Given the description of an element on the screen output the (x, y) to click on. 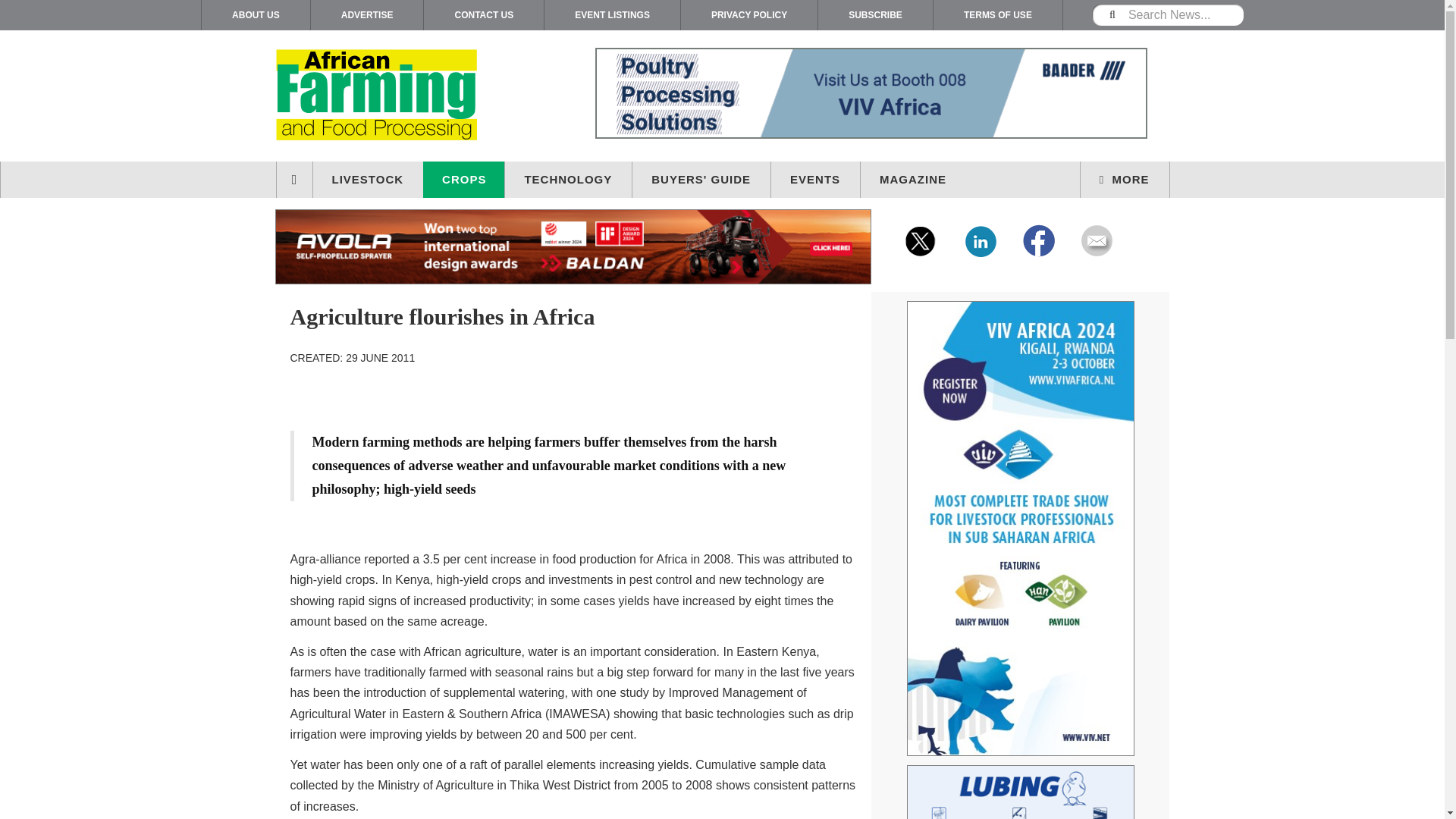
African Review of Business and Technology (405, 95)
SUBSCRIBE (875, 15)
CONTACT US (483, 15)
EVENTS (815, 179)
ADVERTISE (367, 15)
BUYERS' GUIDE (700, 179)
PRIVACY POLICY (748, 15)
CROPS (464, 179)
TECHNOLOGY (568, 179)
EVENT LISTINGS (611, 15)
